Given the description of an element on the screen output the (x, y) to click on. 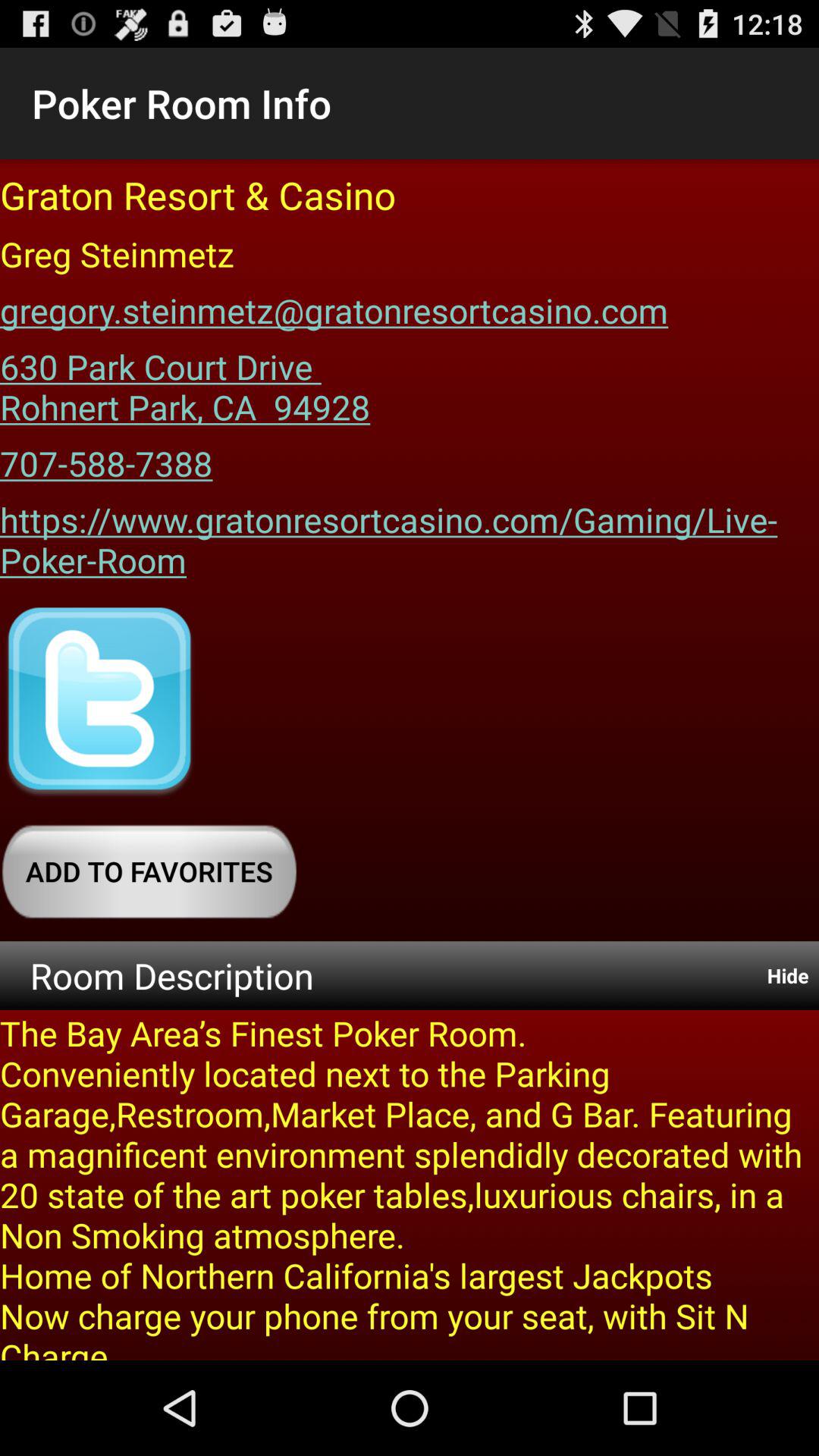
swipe to https www gratonresortcasino icon (409, 534)
